Given the description of an element on the screen output the (x, y) to click on. 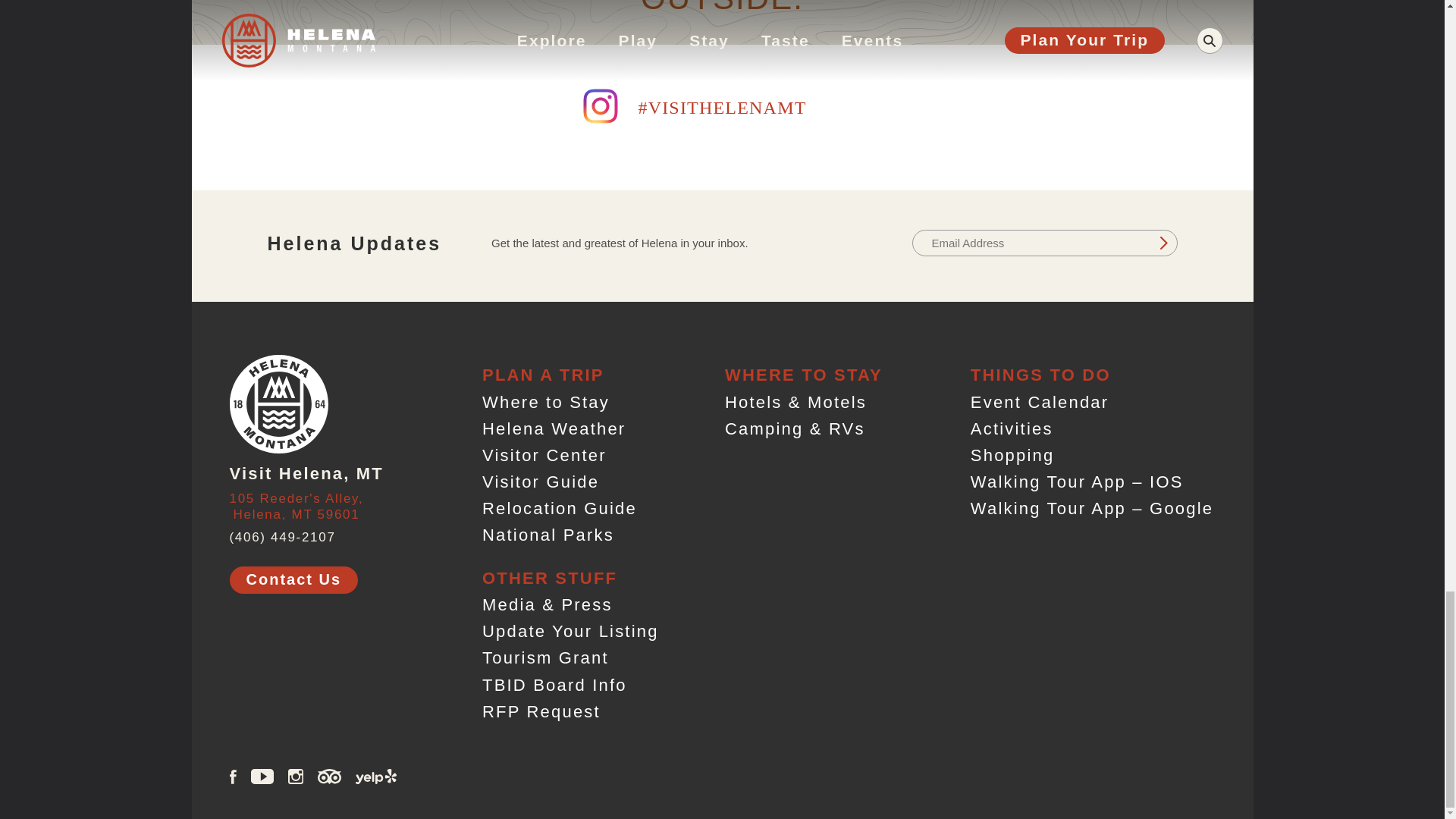
Visit Helena, MT (306, 468)
Event Calendar (295, 503)
Contact Us (1039, 402)
Relocation Guide (293, 579)
Visitor Center (559, 507)
Visitor Guide (544, 455)
Where to Stay (539, 481)
Activities (545, 402)
National Parks (1011, 428)
Submit (547, 534)
Shopping (1163, 242)
Helena Weather (1012, 455)
